Given the description of an element on the screen output the (x, y) to click on. 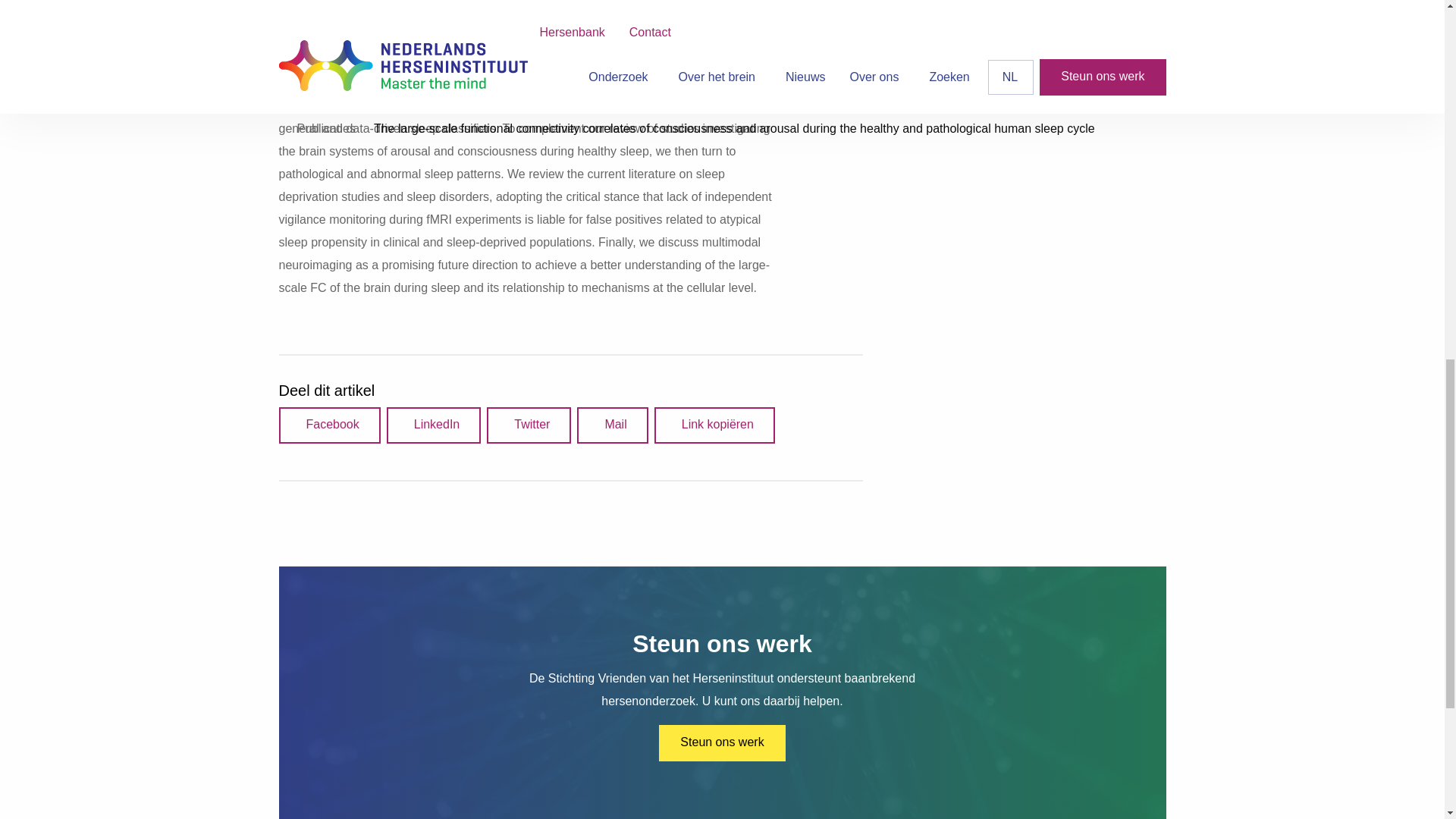
Share via mail (611, 425)
Share on Facebook (329, 425)
Tweet (528, 425)
Share on LinkedIn (434, 425)
Share link (713, 425)
